Given the description of an element on the screen output the (x, y) to click on. 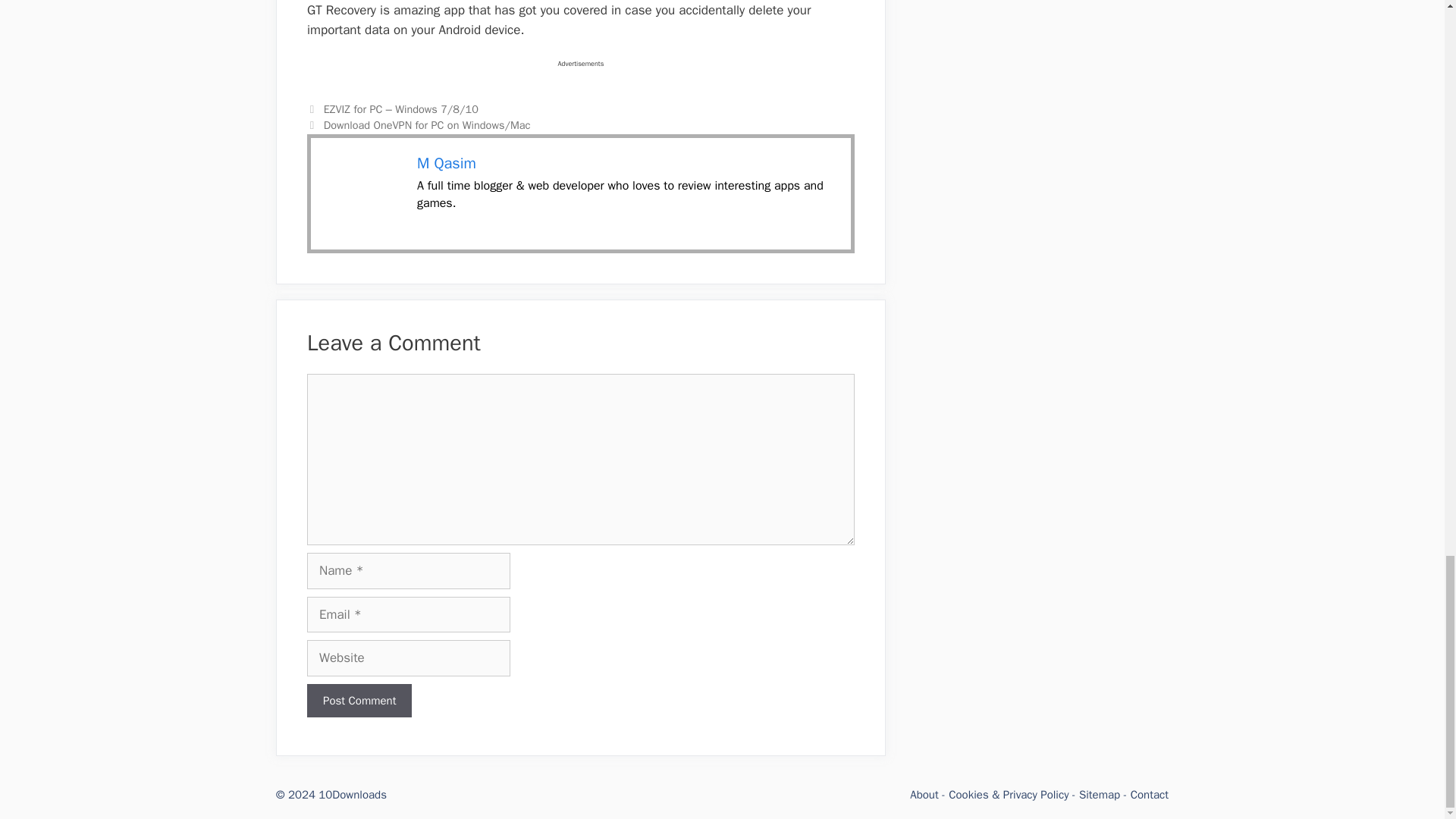
Post Comment (359, 700)
M Qasim (446, 162)
Contact (1150, 794)
Previous (393, 109)
Sitemap (1098, 794)
Next (418, 124)
Post Comment (359, 700)
About (923, 794)
